Given the description of an element on the screen output the (x, y) to click on. 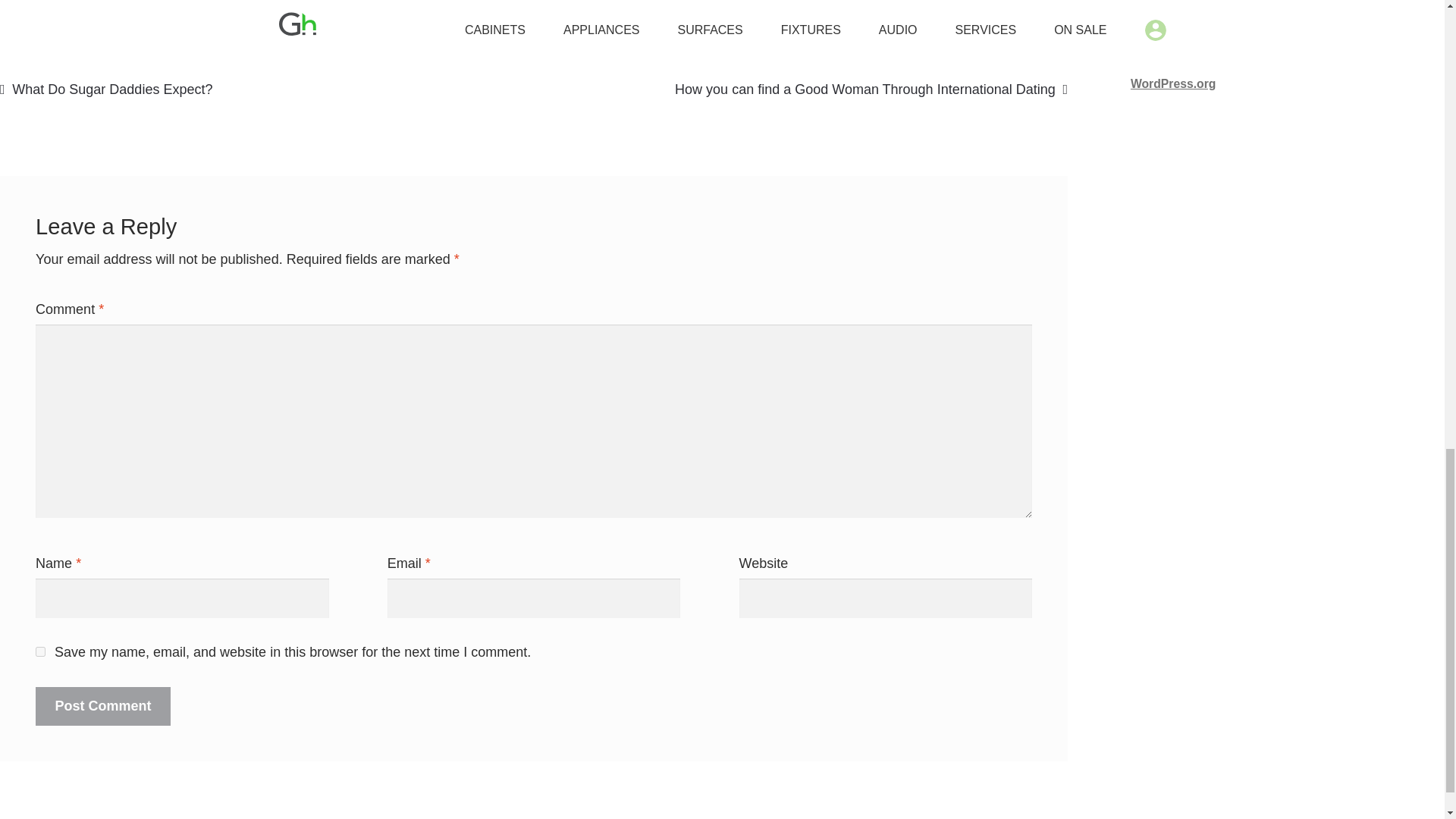
Post Comment (102, 706)
yes (39, 651)
